Given the description of an element on the screen output the (x, y) to click on. 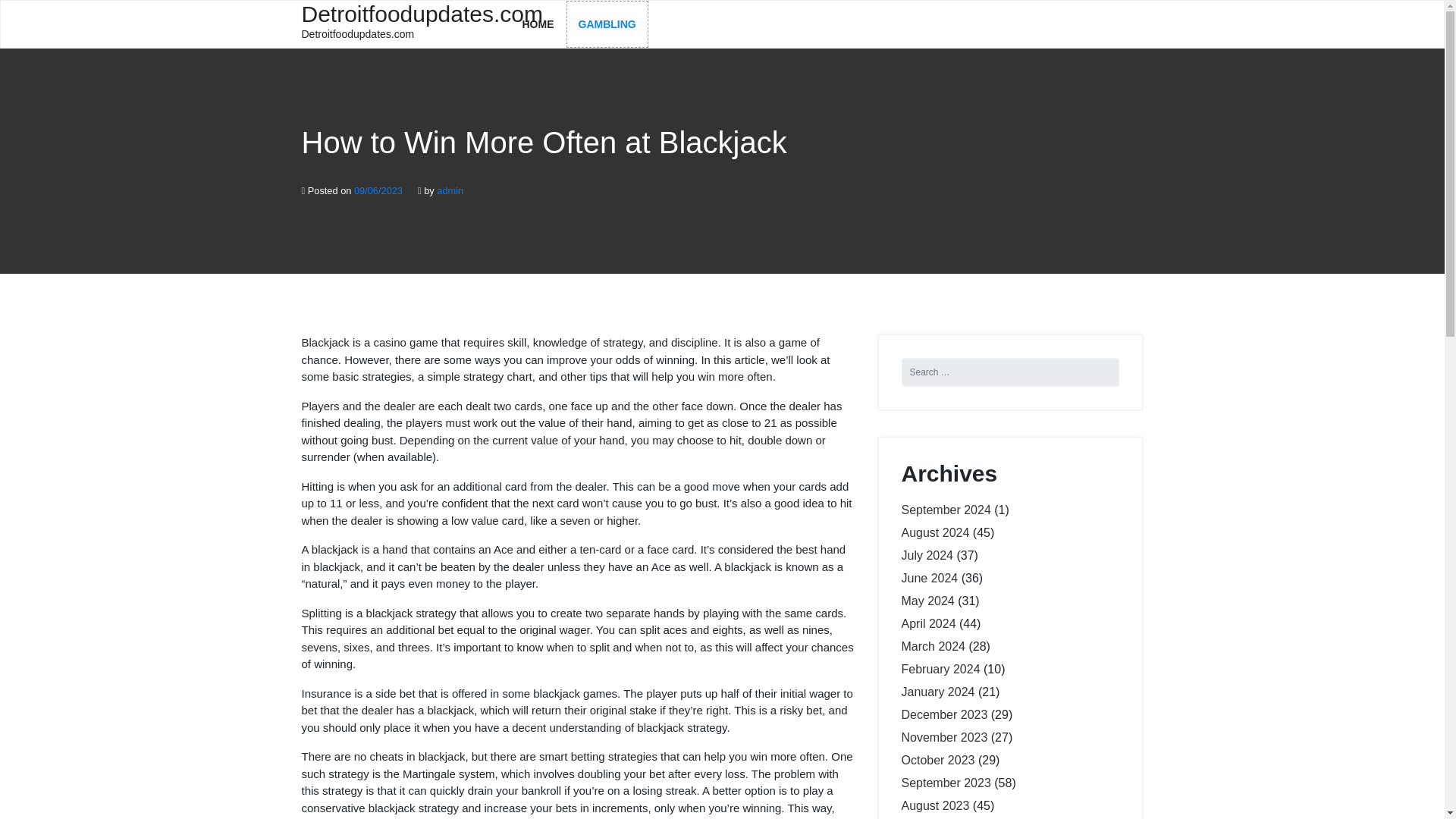
March 2024 (933, 645)
GAMBLING (606, 23)
October 2023 (937, 759)
Home (537, 23)
January 2024 (937, 691)
November 2023 (944, 737)
July 2024 (927, 554)
August 2023 (935, 805)
December 2023 (944, 714)
February 2024 (940, 668)
